Given the description of an element on the screen output the (x, y) to click on. 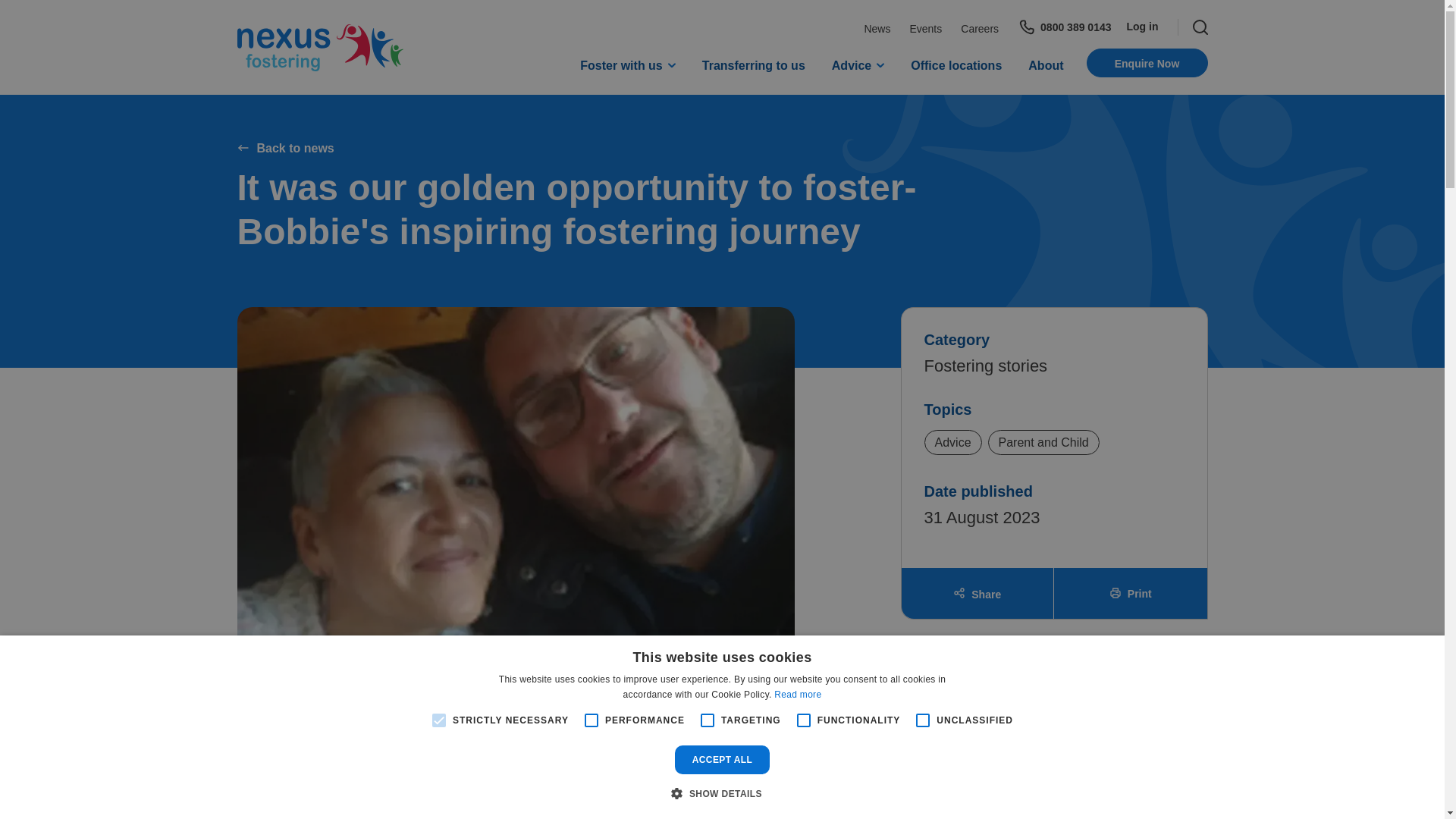
News (876, 28)
About (1044, 66)
Careers (979, 28)
Enquire Now (1146, 62)
0800 389 0143 (1063, 27)
Advice (857, 66)
Events (925, 28)
Transferring to us (753, 66)
Log in (1142, 27)
Foster with us (627, 66)
Office locations (956, 66)
